Given the description of an element on the screen output the (x, y) to click on. 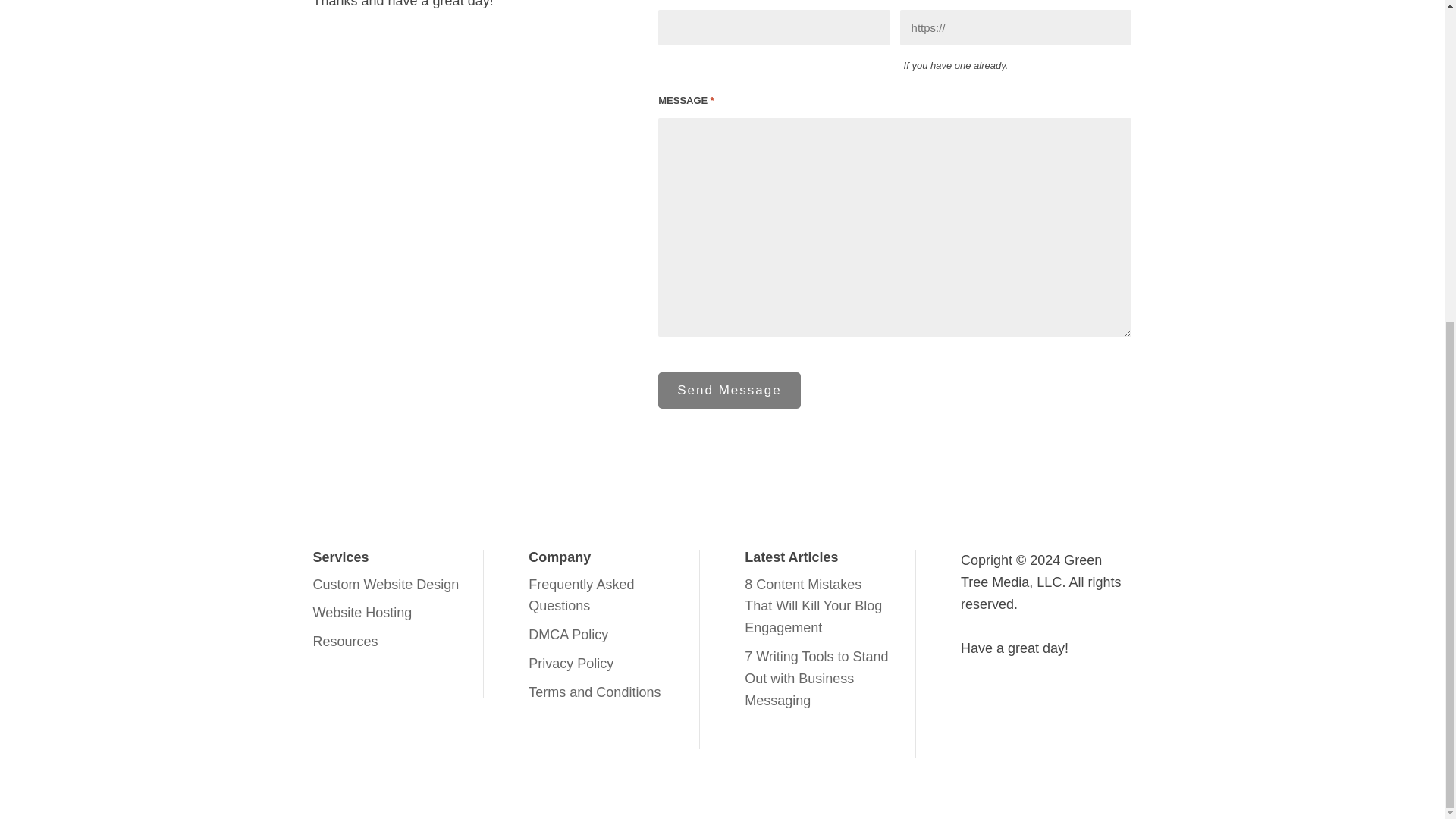
7 Writing Tools to Stand Out with Business Messaging (816, 678)
DMCA Policy (568, 634)
Website Hosting (362, 612)
8 Content Mistakes That Will Kill Your Blog Engagement (813, 606)
Custom Website Design (385, 584)
Frequently Asked Questions (580, 595)
Send Message (728, 390)
Privacy Policy (570, 663)
Terms and Conditions (594, 692)
Send Message (728, 390)
